Given the description of an element on the screen output the (x, y) to click on. 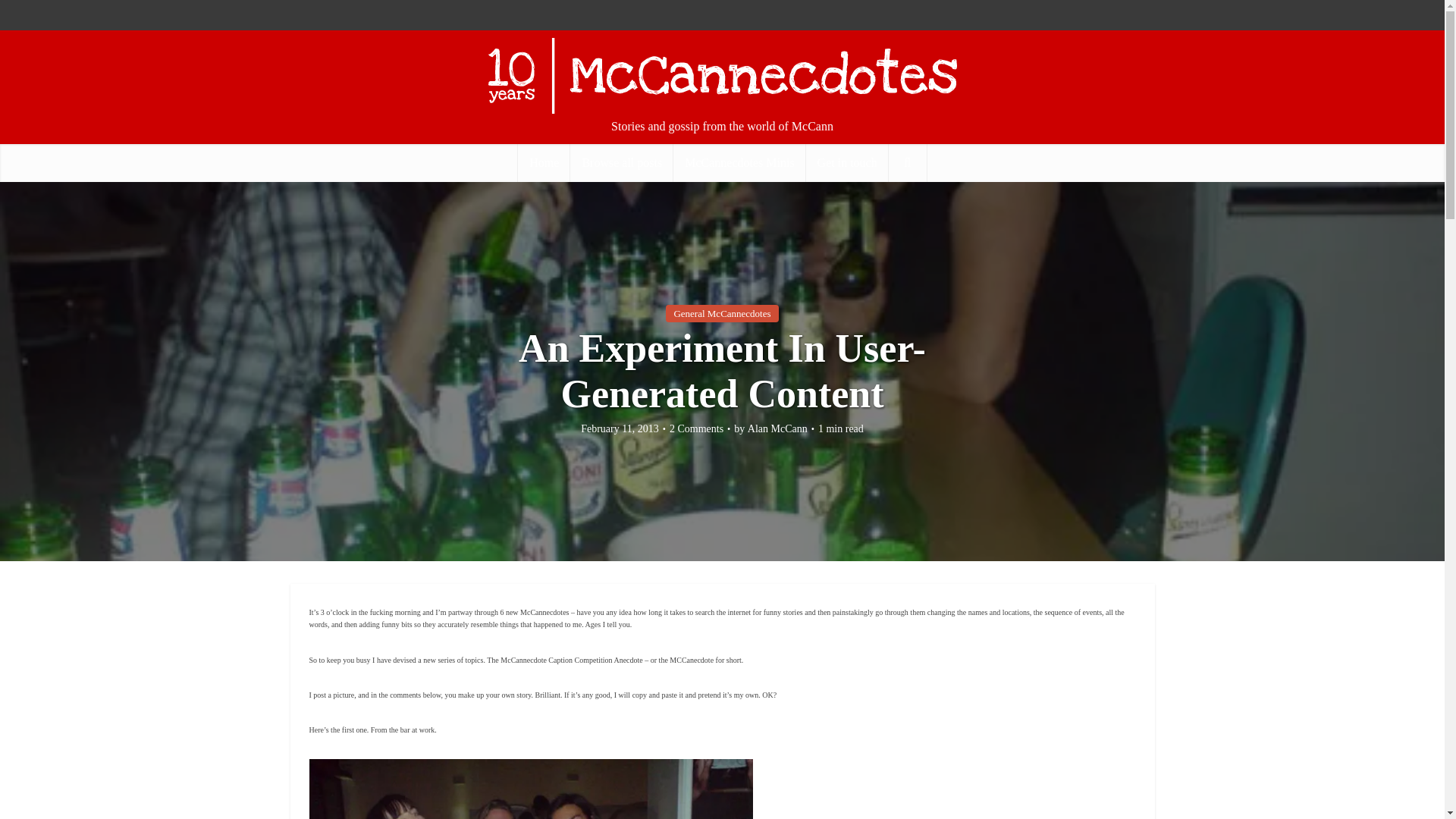
2 Comments (696, 428)
General McCannecdotes (721, 313)
Alan McCann (778, 428)
McCannecdotes Minis (738, 162)
Browse all posts (621, 162)
Get in touch (847, 162)
Home (544, 162)
